Given the description of an element on the screen output the (x, y) to click on. 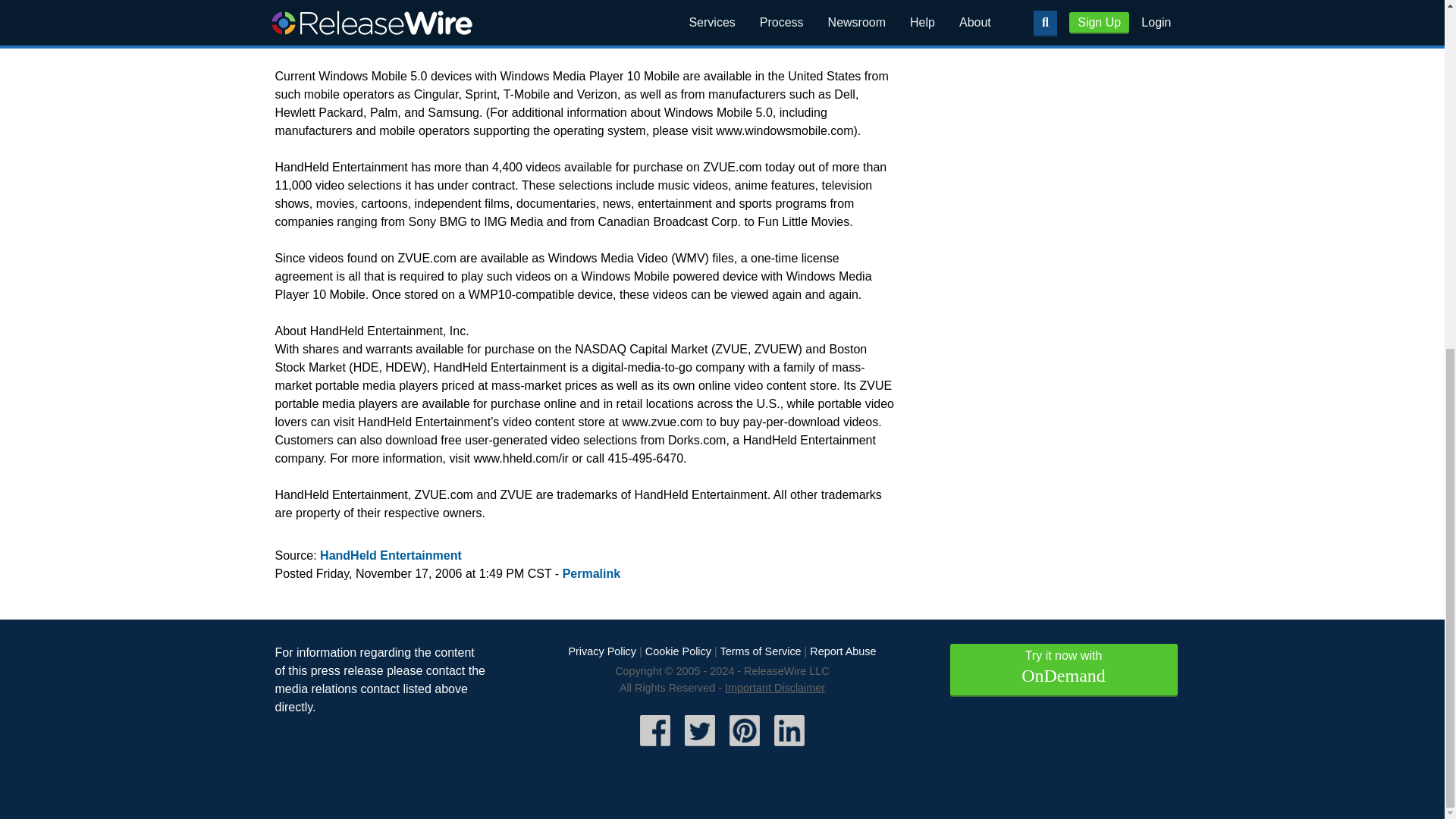
Follow ReleaseWire on LinkedIn (788, 747)
Find ReleaseWire on Facebook (655, 747)
Visit ReleaseWire on Pinterest (744, 747)
Follow ReleaseWire on Twitter (699, 747)
